Given the description of an element on the screen output the (x, y) to click on. 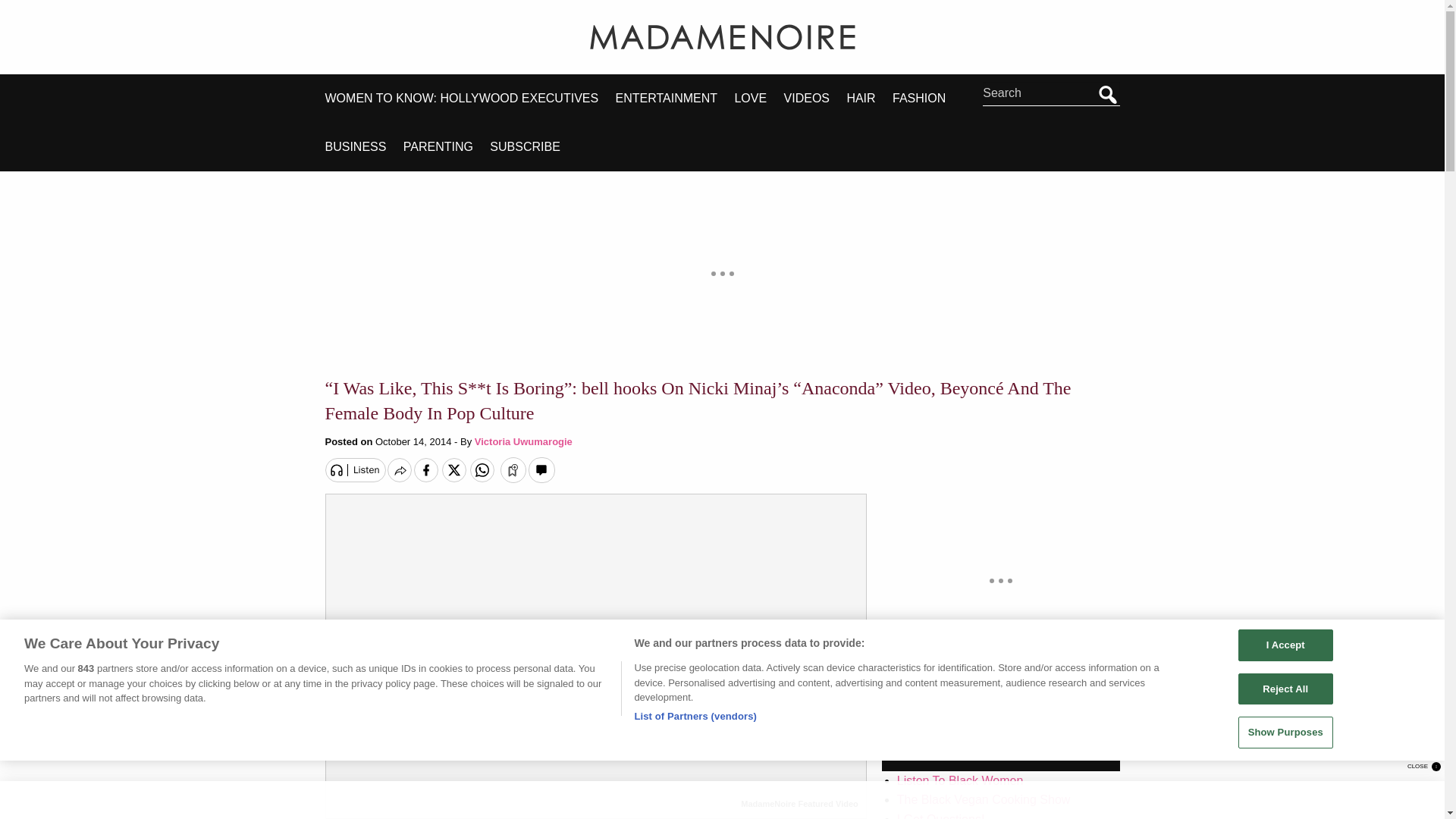
Vuukle Sharebar Widget (721, 467)
VIDEOS (815, 98)
SUBSCRIBE (532, 146)
WOMEN TO KNOW: HOLLYWOOD EXECUTIVES (469, 98)
LOVE (758, 98)
PARENTING (446, 146)
ENTERTAINMENT (675, 98)
Listen To Black Women (959, 779)
I Got Questions! (940, 816)
BUSINESS (363, 146)
HAIR (868, 98)
Posts by Victoria Uwumarogie (523, 441)
FASHION (927, 98)
The Black Vegan Cooking Show (983, 799)
Victoria Uwumarogie (523, 441)
